Given the description of an element on the screen output the (x, y) to click on. 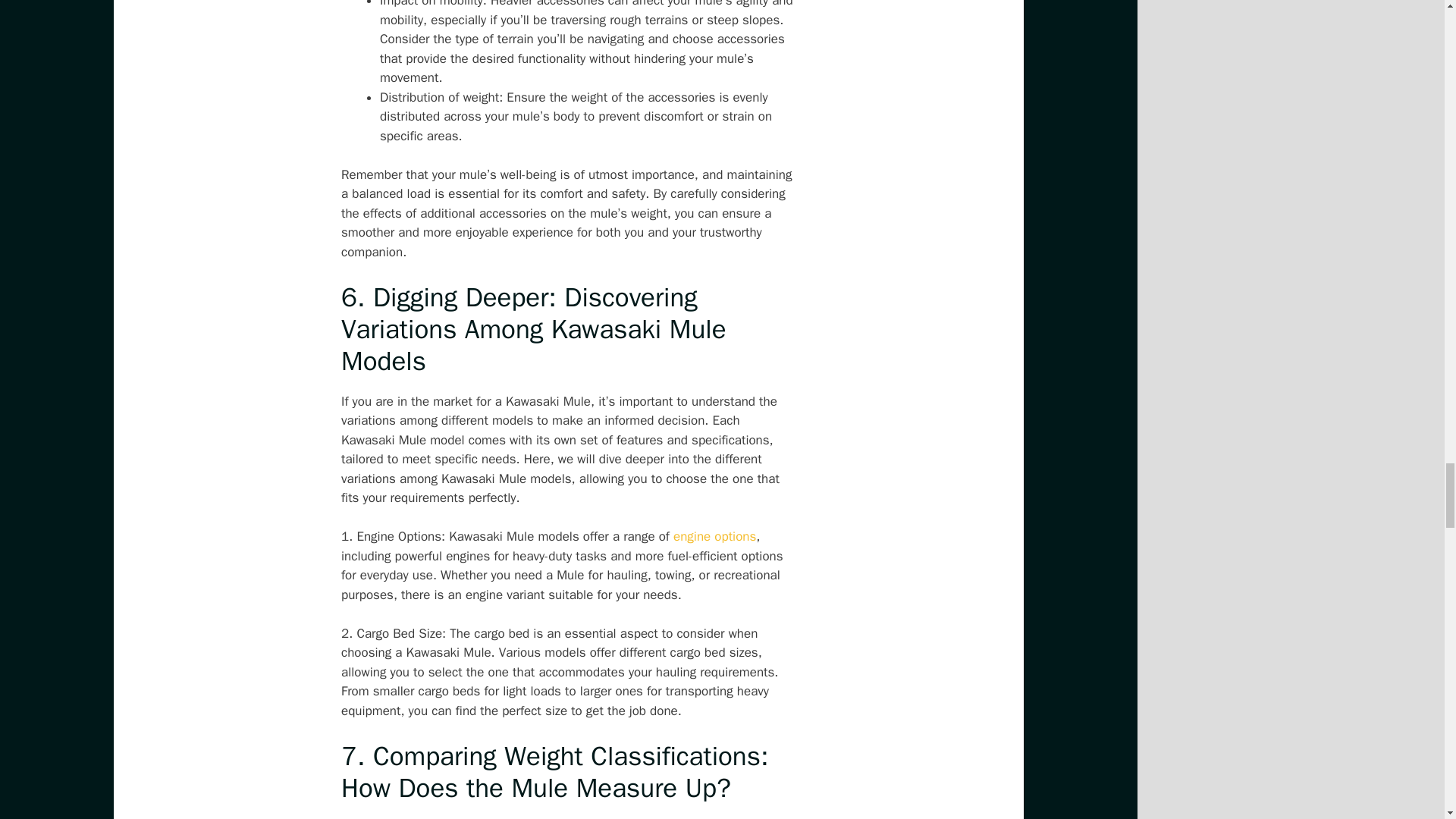
Is the Kawasaki Vulcan a Suitable Starter Bike? (713, 536)
engine options (713, 536)
